Given the description of an element on the screen output the (x, y) to click on. 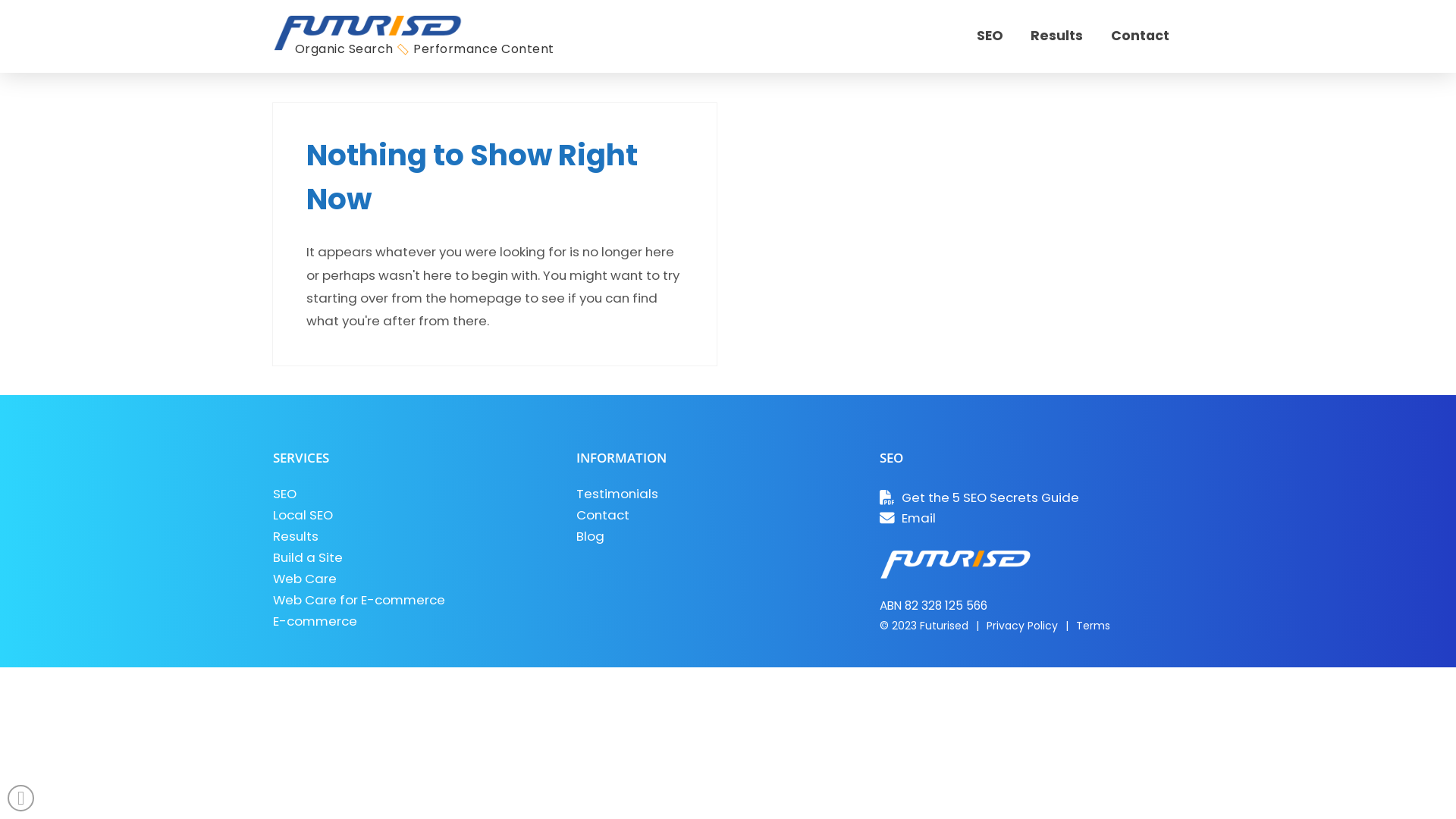
SEO Element type: text (989, 36)
SERVICES Element type: text (301, 457)
Results Element type: text (414, 535)
Email Element type: text (1020, 518)
Build a Site Element type: text (414, 556)
SEO Element type: text (891, 457)
Privacy Policy Element type: text (1021, 625)
Contact Element type: text (717, 514)
Testimonials Element type: text (717, 493)
Get the 5 SEO Secrets Guide Element type: text (1020, 497)
Contact Element type: text (1140, 36)
Blog Element type: text (717, 535)
Local SEO Element type: text (414, 514)
Back to Top Element type: hover (20, 797)
Terms Element type: text (1093, 625)
Web Care Element type: text (414, 578)
Web Care for E-commerce Element type: text (414, 599)
E-commerce Element type: text (414, 620)
Results Element type: text (1056, 36)
Search Element type: text (51, 21)
SEO Element type: text (414, 493)
